Given the description of an element on the screen output the (x, y) to click on. 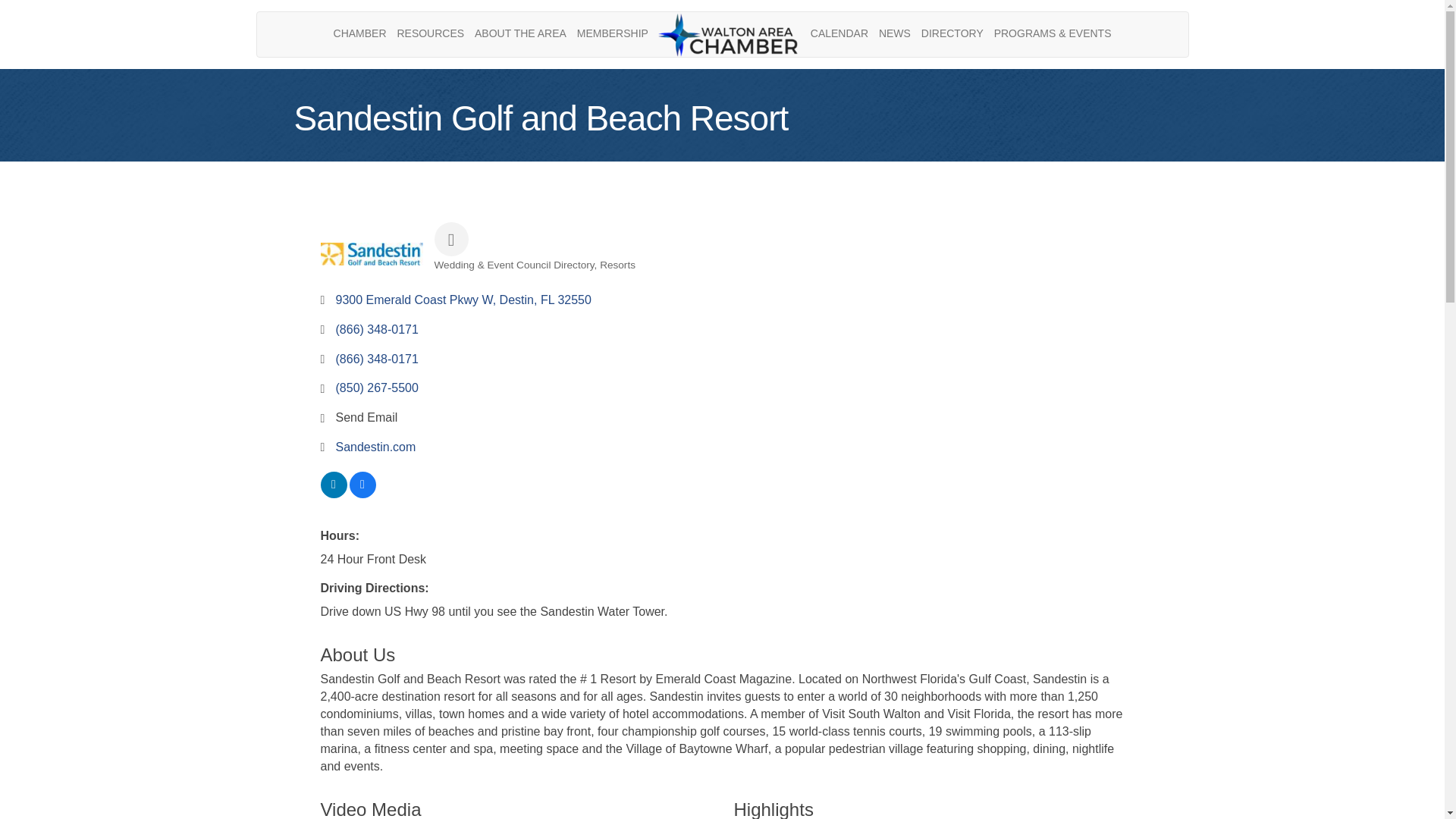
View on LinkedIn (333, 493)
Sandestin Golf and Beach Resort (371, 253)
View on Facebook (362, 493)
